Given the description of an element on the screen output the (x, y) to click on. 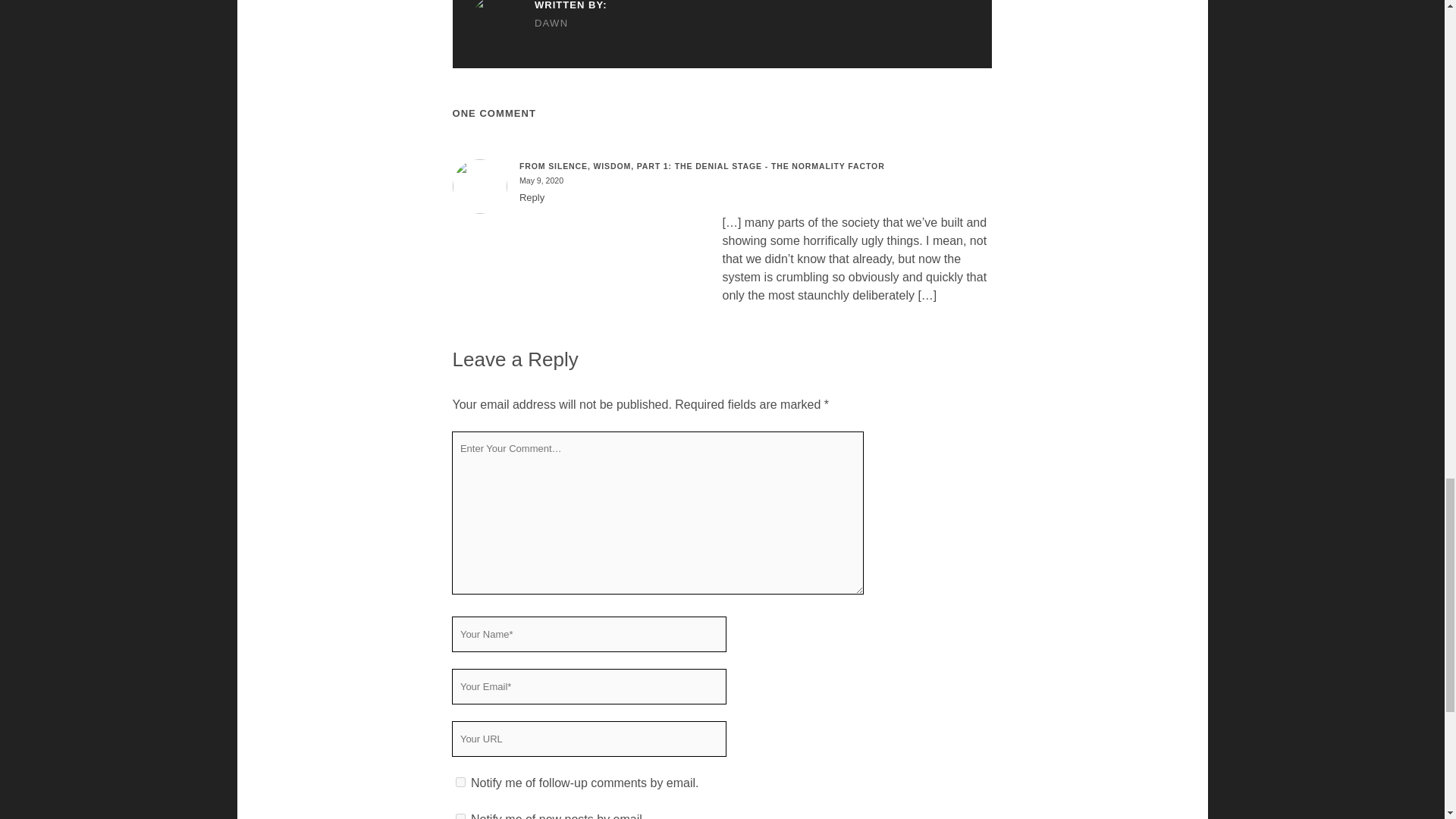
subscribe (459, 816)
Reply (531, 197)
DAWN (538, 23)
Posts by Dawn (538, 23)
subscribe (459, 782)
